Given the description of an element on the screen output the (x, y) to click on. 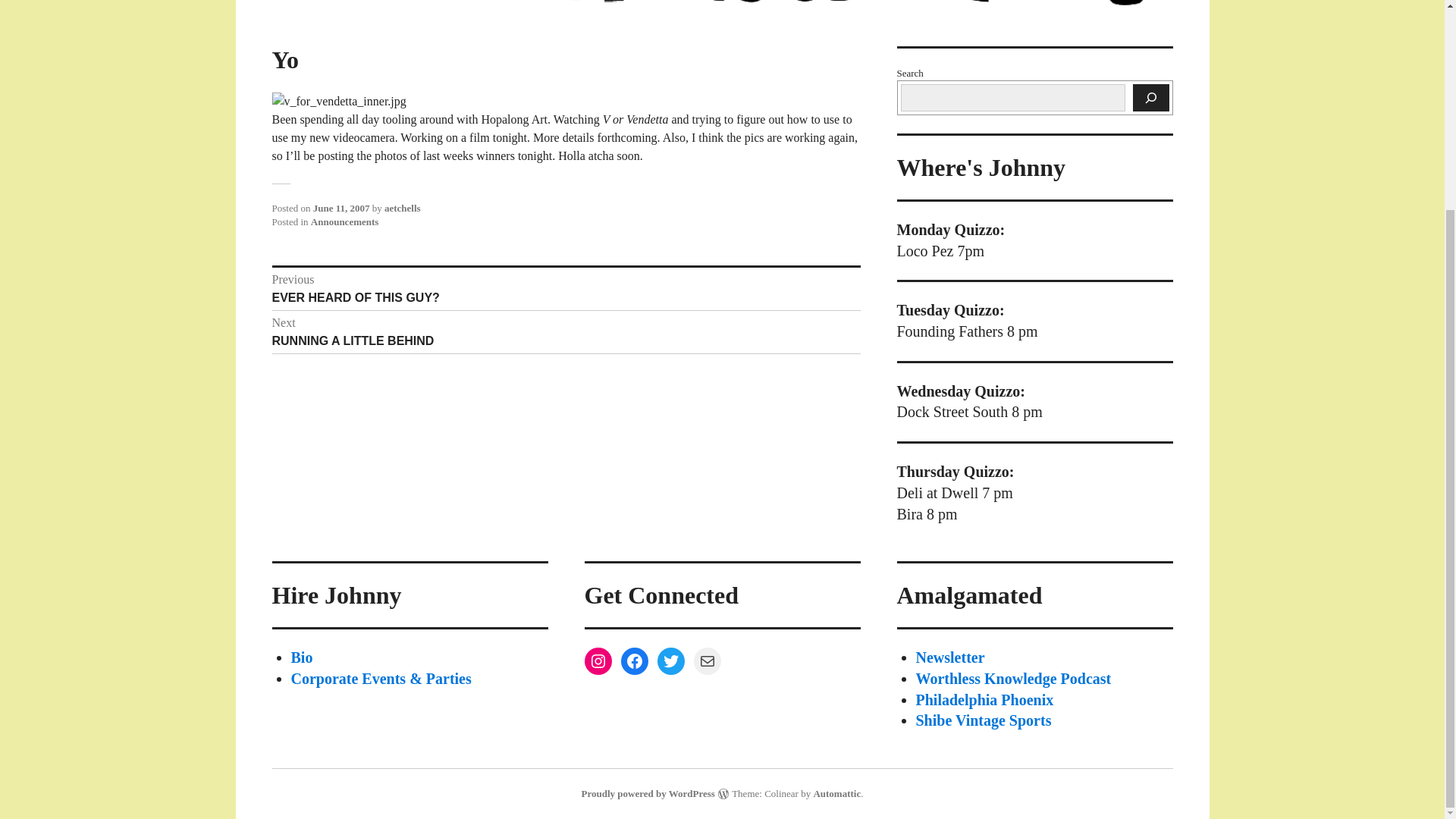
Mail (565, 289)
aetchells (706, 660)
Announcements (402, 207)
Worthless Knowledge Podcast (344, 221)
Shibe Vintage Sports (1013, 678)
Newsletter (983, 719)
Automattic (950, 657)
June 11, 2007 (836, 793)
Bio (565, 331)
Instagram (341, 207)
Twitter (302, 657)
Proudly powered by WordPress (597, 660)
Facebook (670, 660)
